Given the description of an element on the screen output the (x, y) to click on. 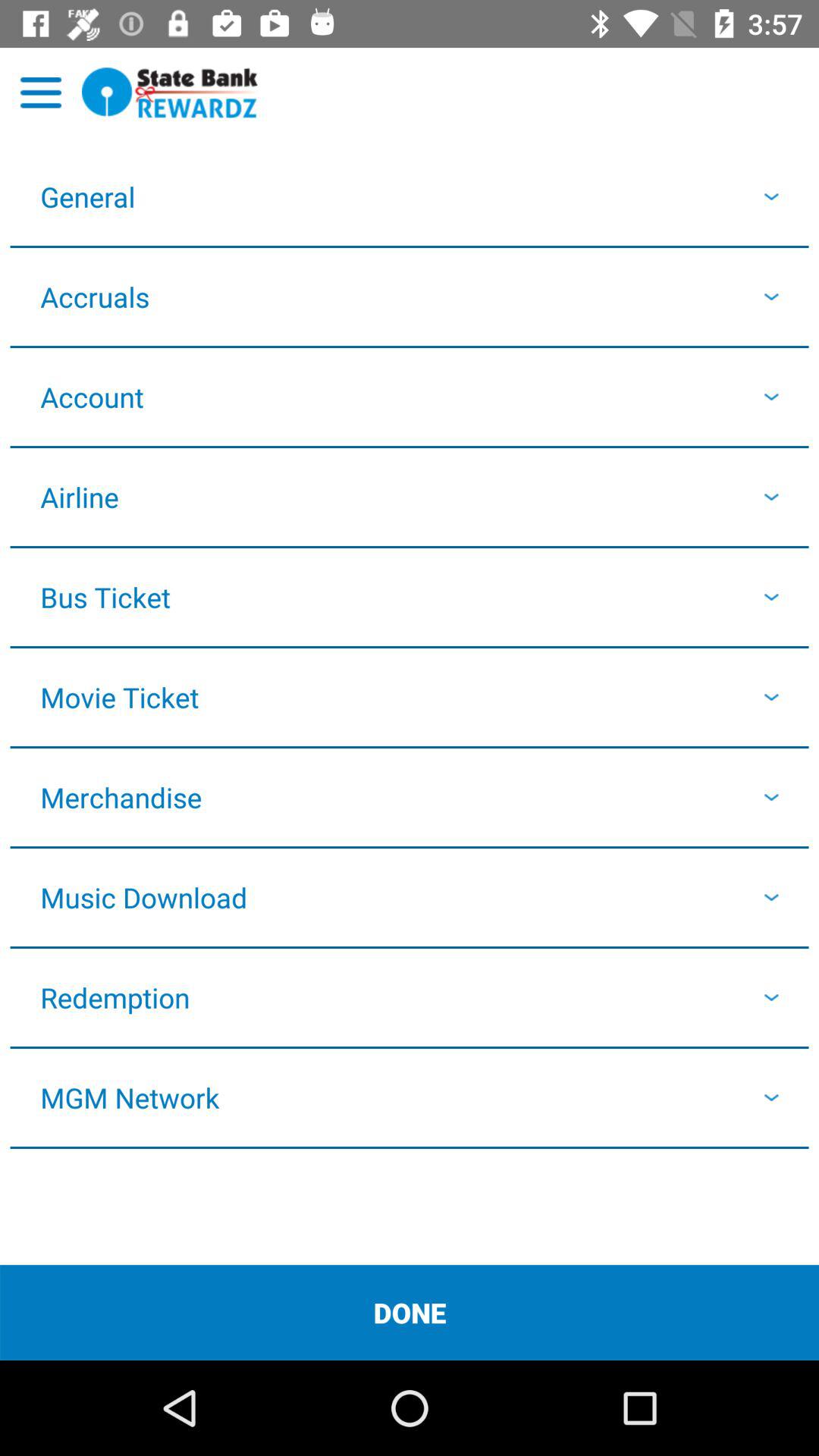
go home (169, 92)
